Given the description of an element on the screen output the (x, y) to click on. 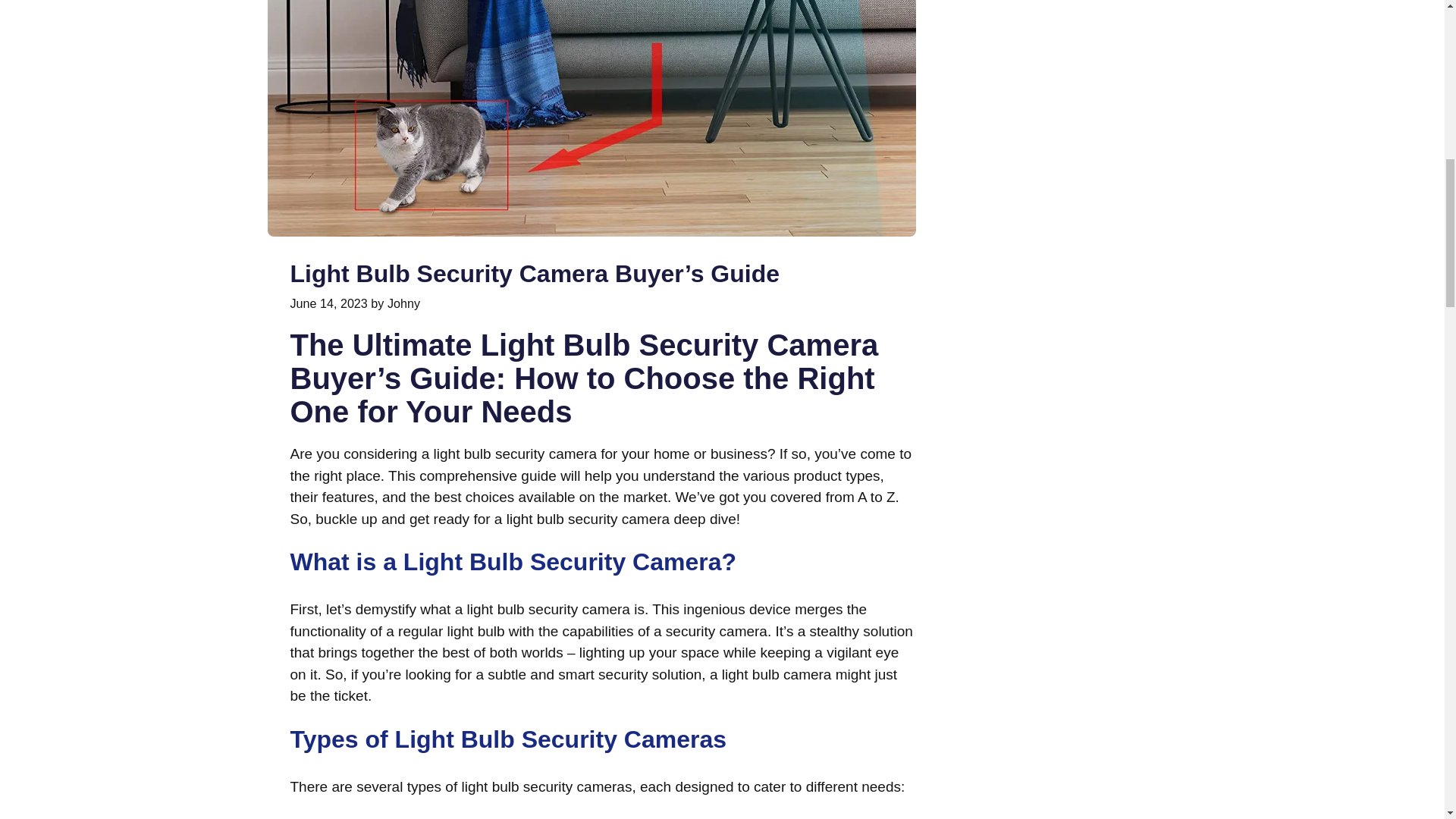
View all posts by Johny (403, 303)
light bulb security camera (587, 519)
Johny (403, 303)
